Given the description of an element on the screen output the (x, y) to click on. 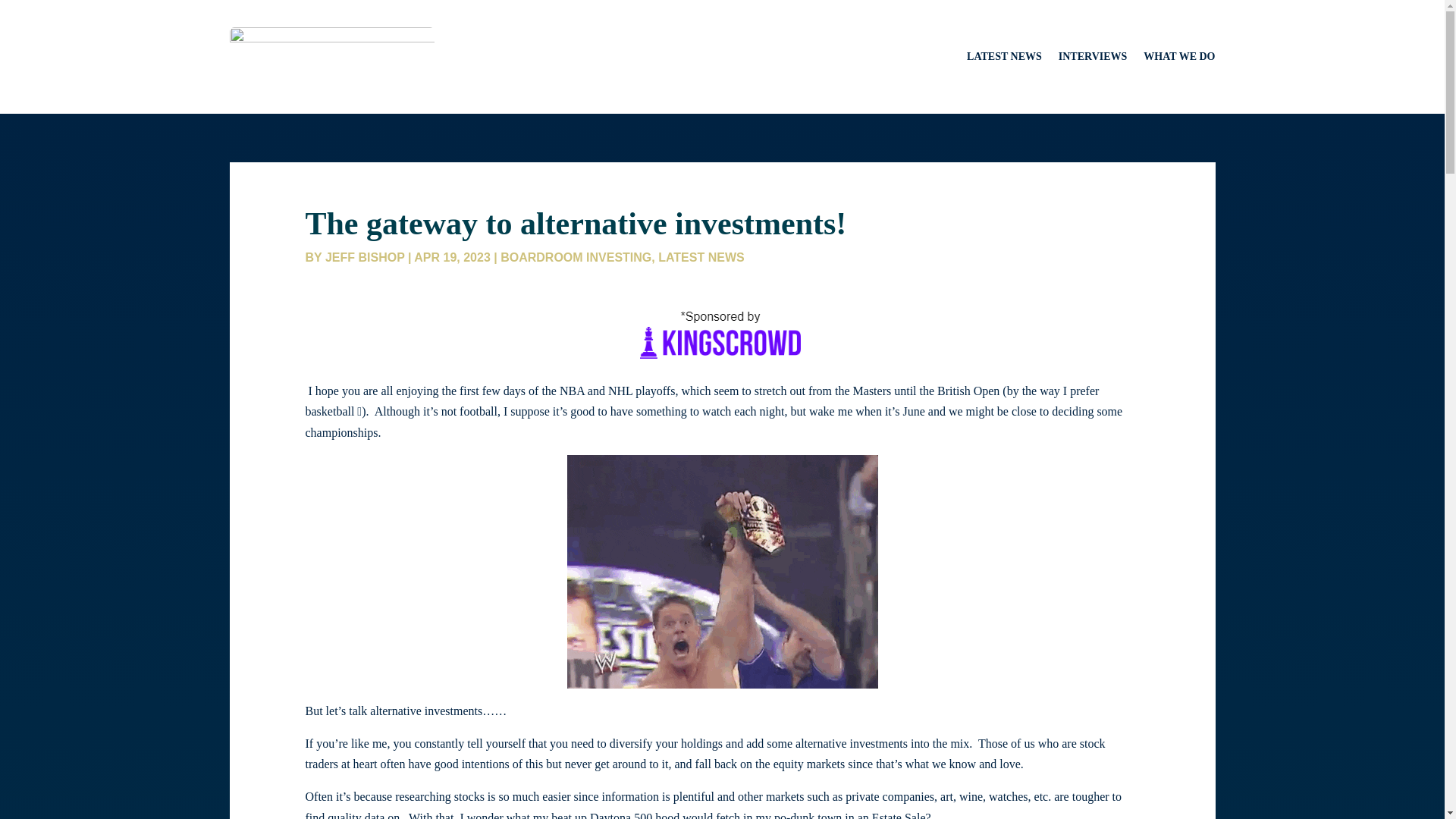
INTERVIEWS (1092, 56)
Posts by Jeff Bishop (364, 256)
LATEST NEWS (1004, 56)
BOARDROOM INVESTING (575, 256)
WHAT WE DO (1178, 56)
JEFF BISHOP (364, 256)
LATEST NEWS (701, 256)
